Given the description of an element on the screen output the (x, y) to click on. 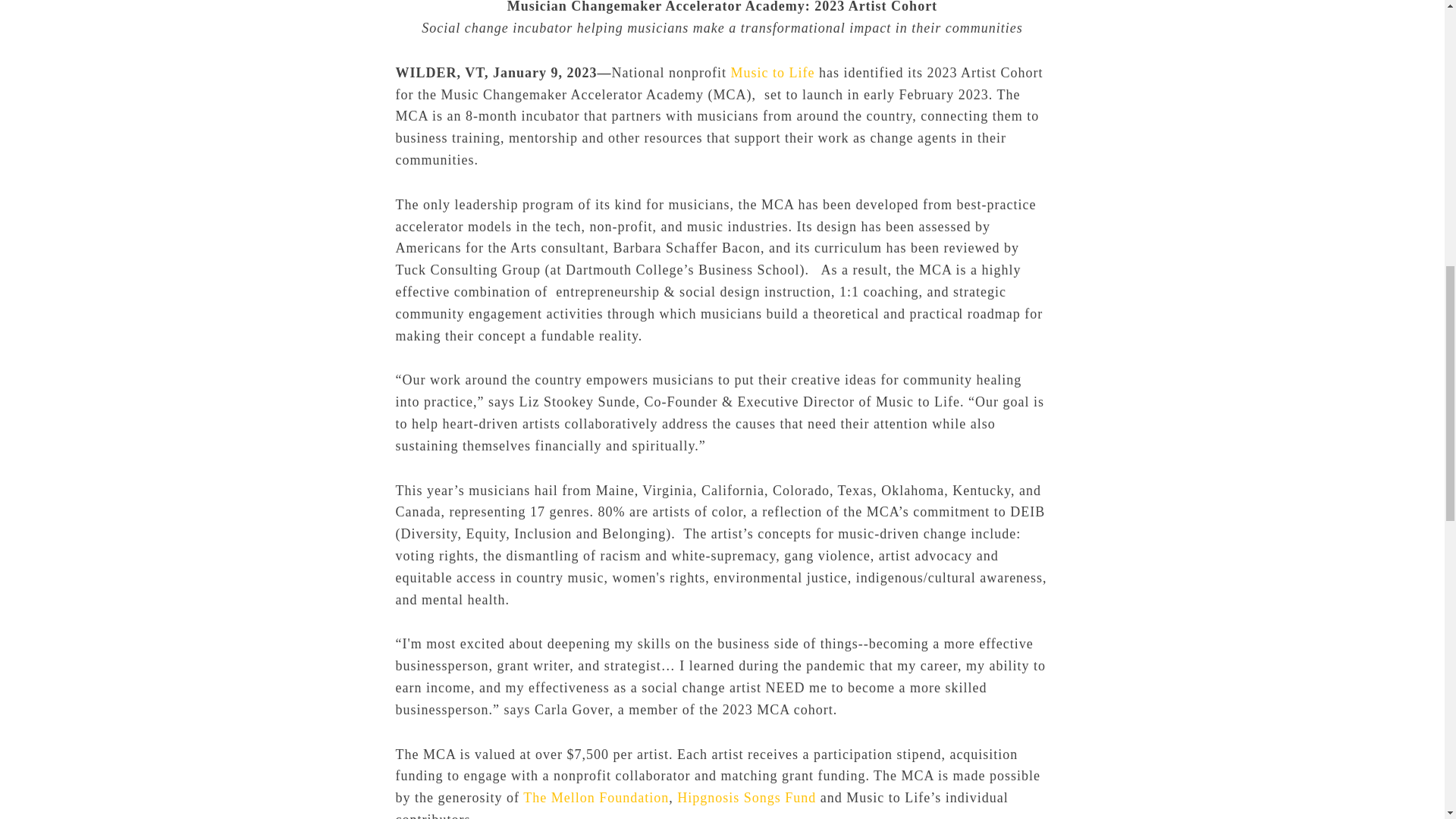
The Mellon Foundation (595, 797)
Hipgnosis Songs Fund (746, 797)
Music to Life (771, 72)
